Given the description of an element on the screen output the (x, y) to click on. 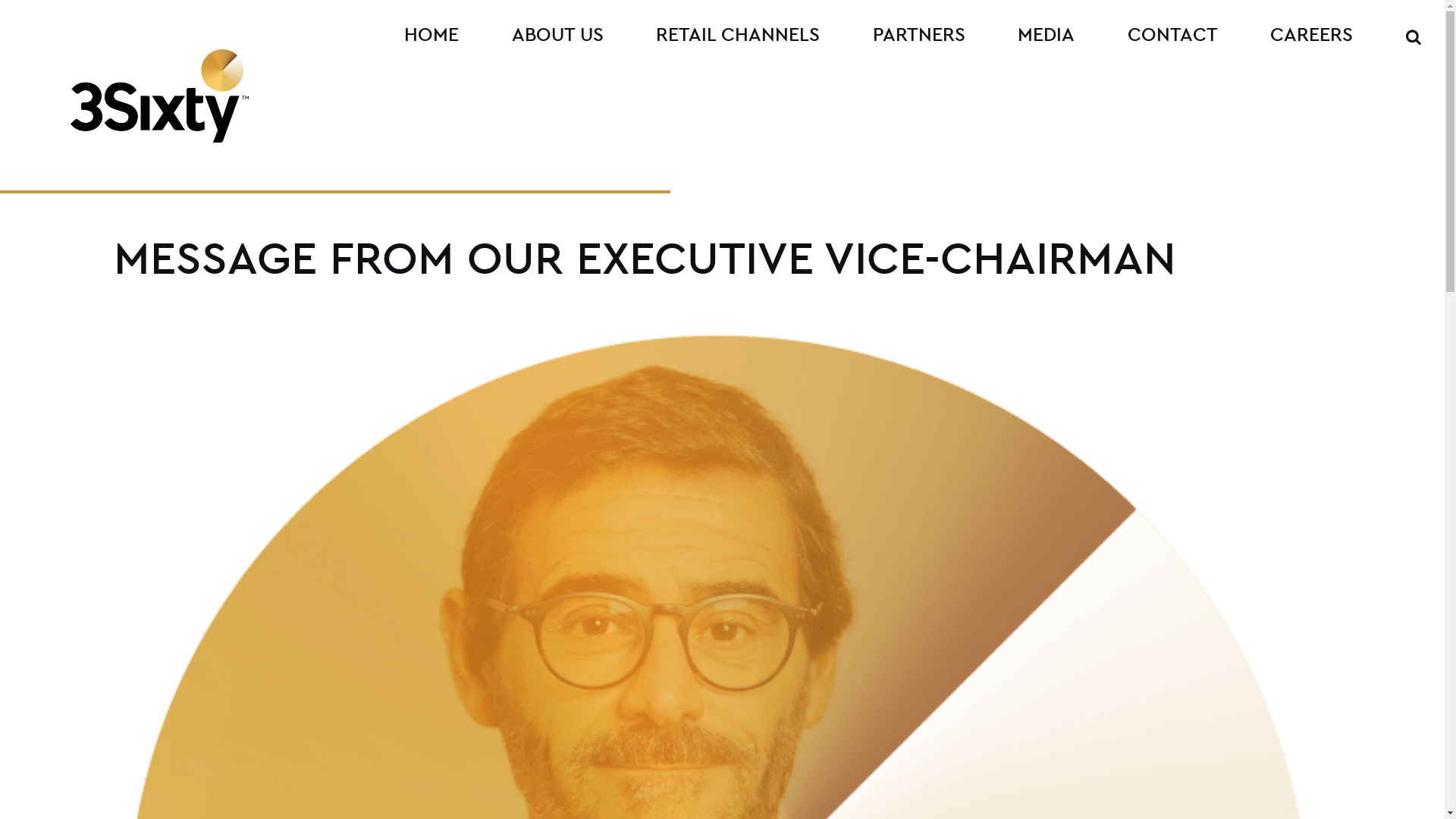
ABOUT US Element type: text (557, 34)
RETAIL CHANNELS Element type: text (738, 34)
HOME Element type: text (431, 34)
CONTACT Element type: text (1173, 34)
PARTNERS Element type: text (919, 34)
MEDIA Element type: text (1046, 34)
CAREERS Element type: text (1311, 34)
